Given the description of an element on the screen output the (x, y) to click on. 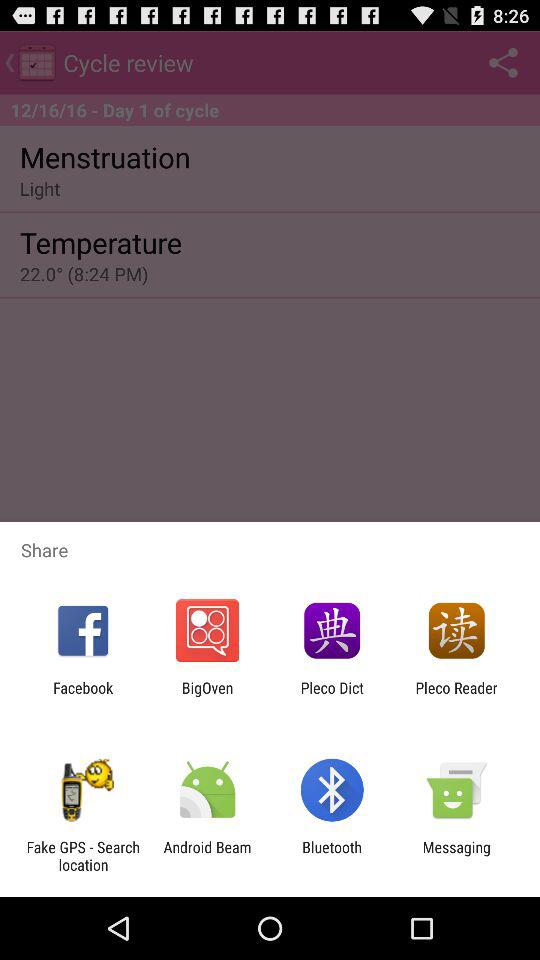
tap the facebook (83, 696)
